Given the description of an element on the screen output the (x, y) to click on. 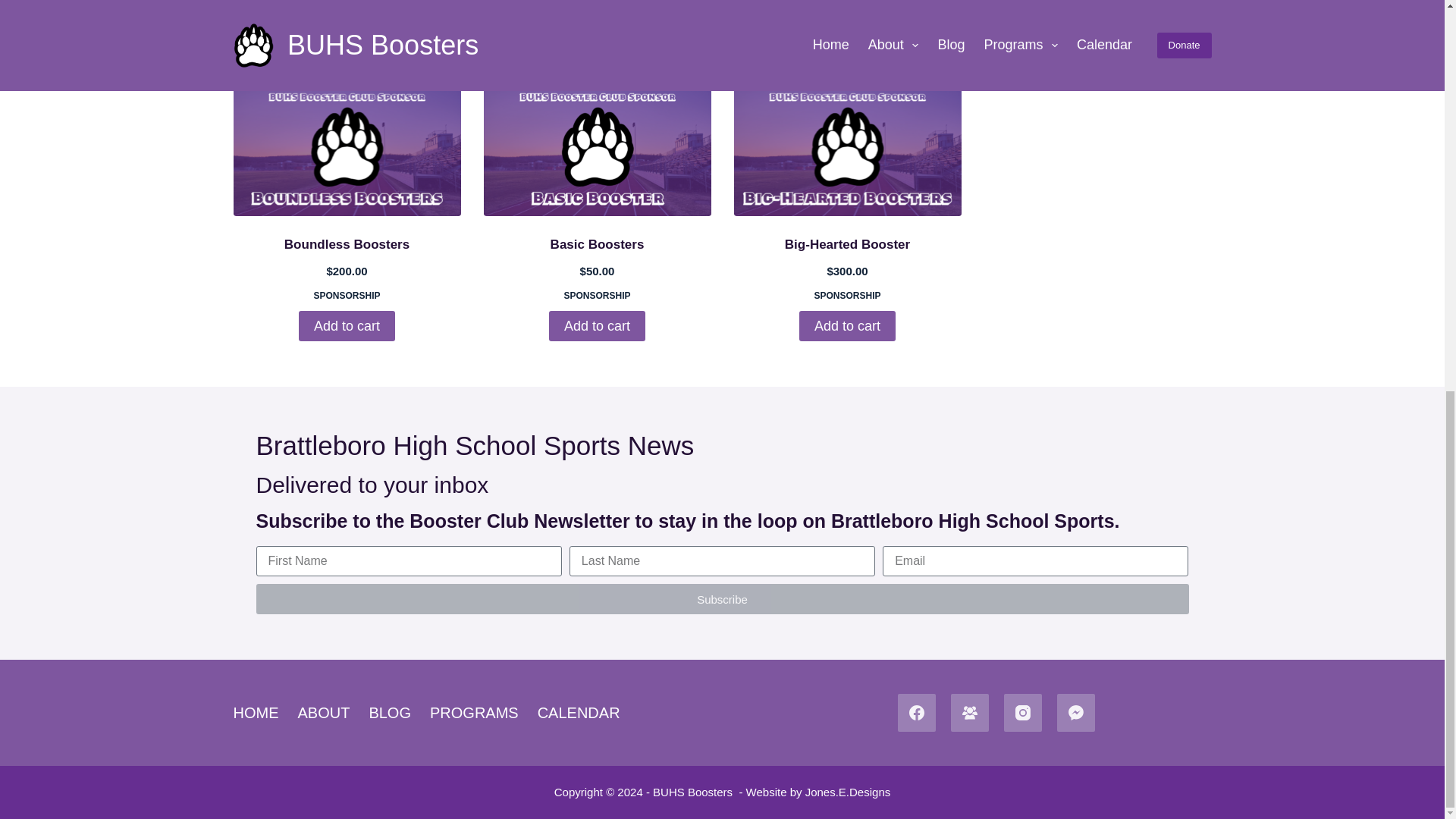
Boundless Boosters (346, 150)
Big-Hearted Boosters (846, 150)
Basic Booster (597, 150)
